Given the description of an element on the screen output the (x, y) to click on. 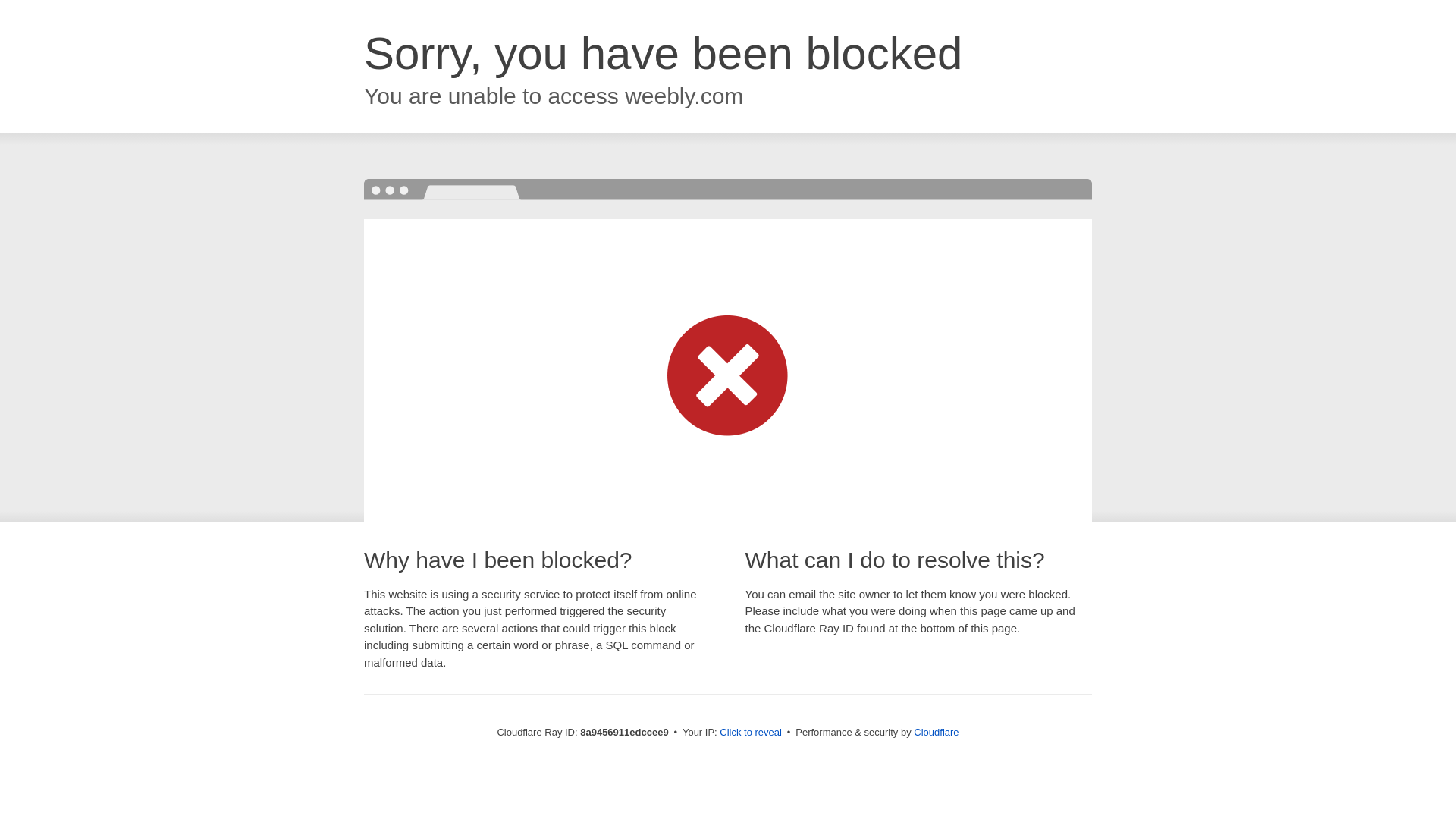
Click to reveal (750, 732)
Cloudflare (936, 731)
